Given the description of an element on the screen output the (x, y) to click on. 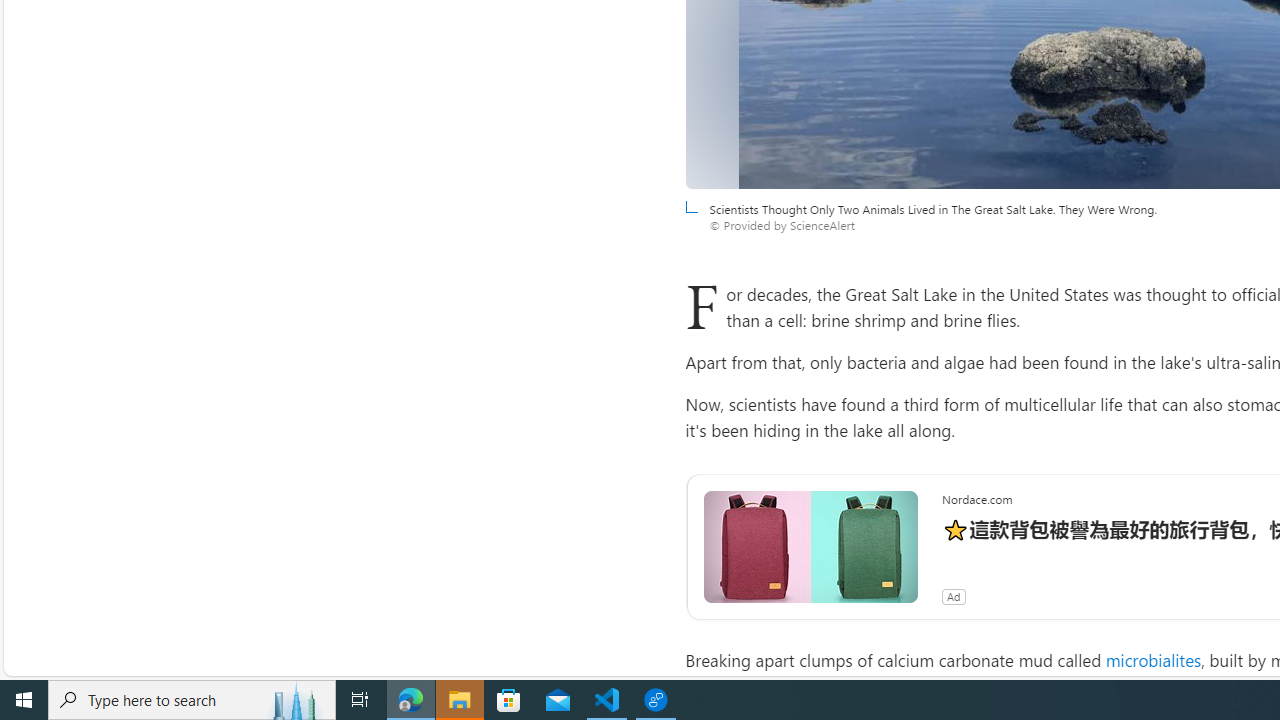
microbialites (1152, 659)
